Given the description of an element on the screen output the (x, y) to click on. 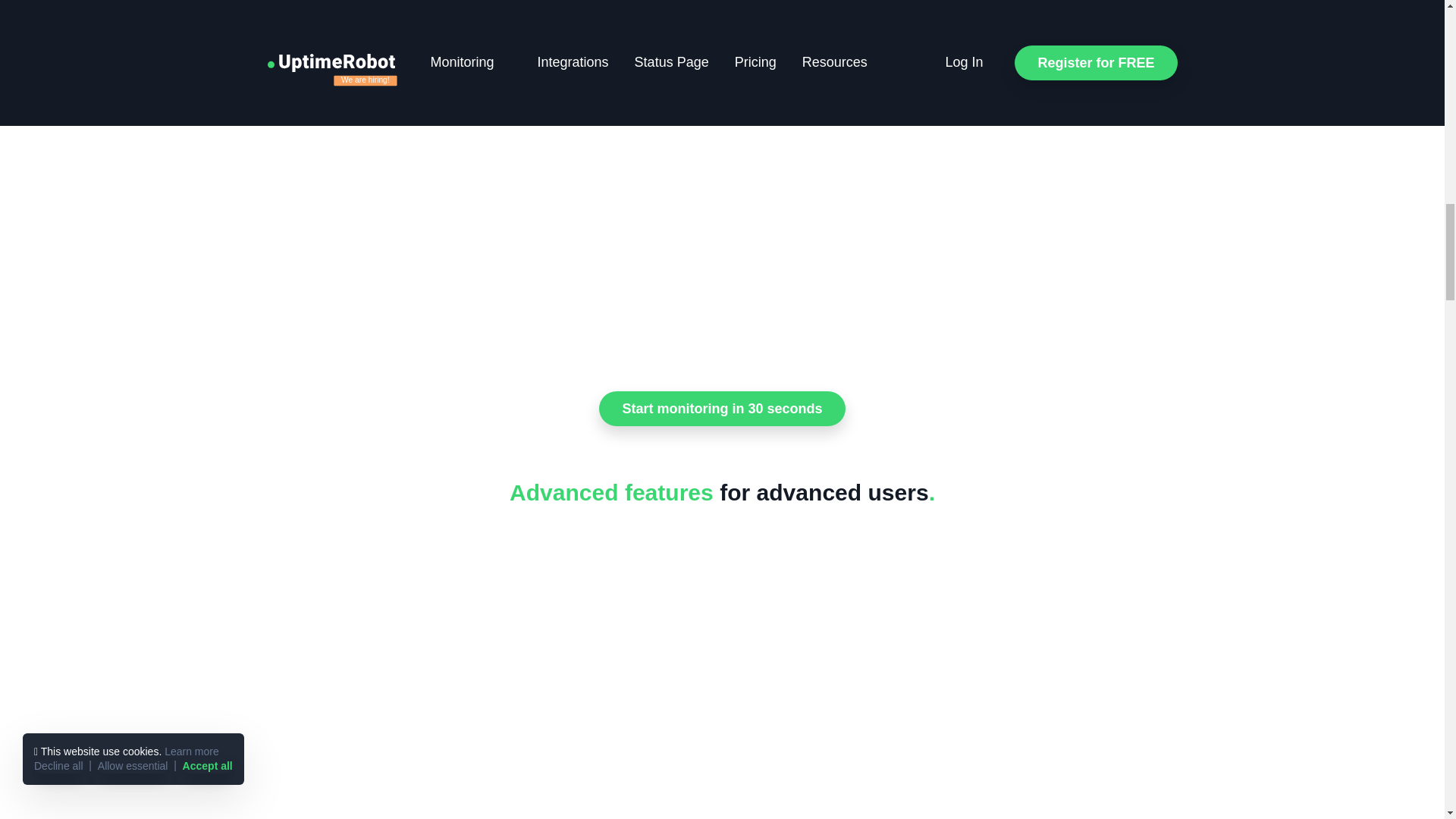
Start monitoring in 30 seconds (721, 408)
